Given the description of an element on the screen output the (x, y) to click on. 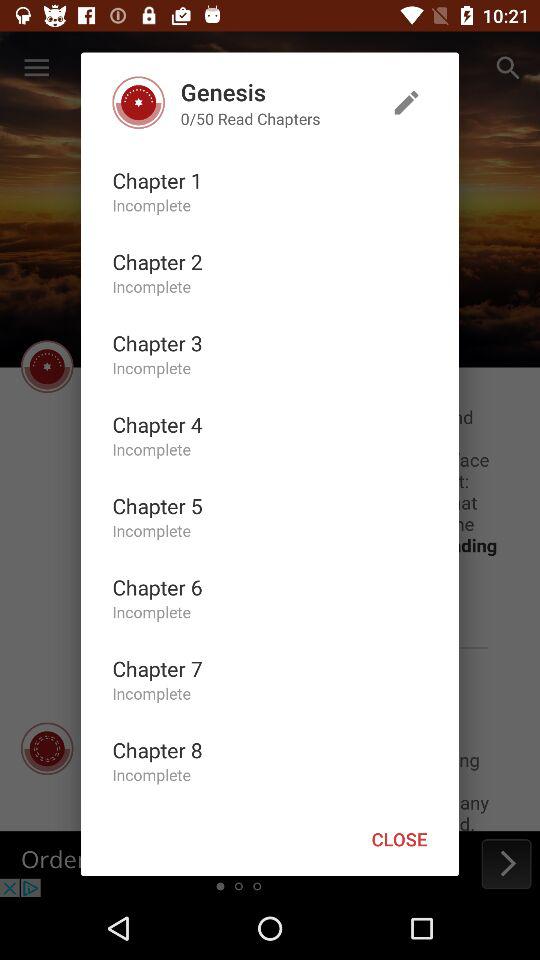
scroll to the chapter 3 icon (157, 342)
